Given the description of an element on the screen output the (x, y) to click on. 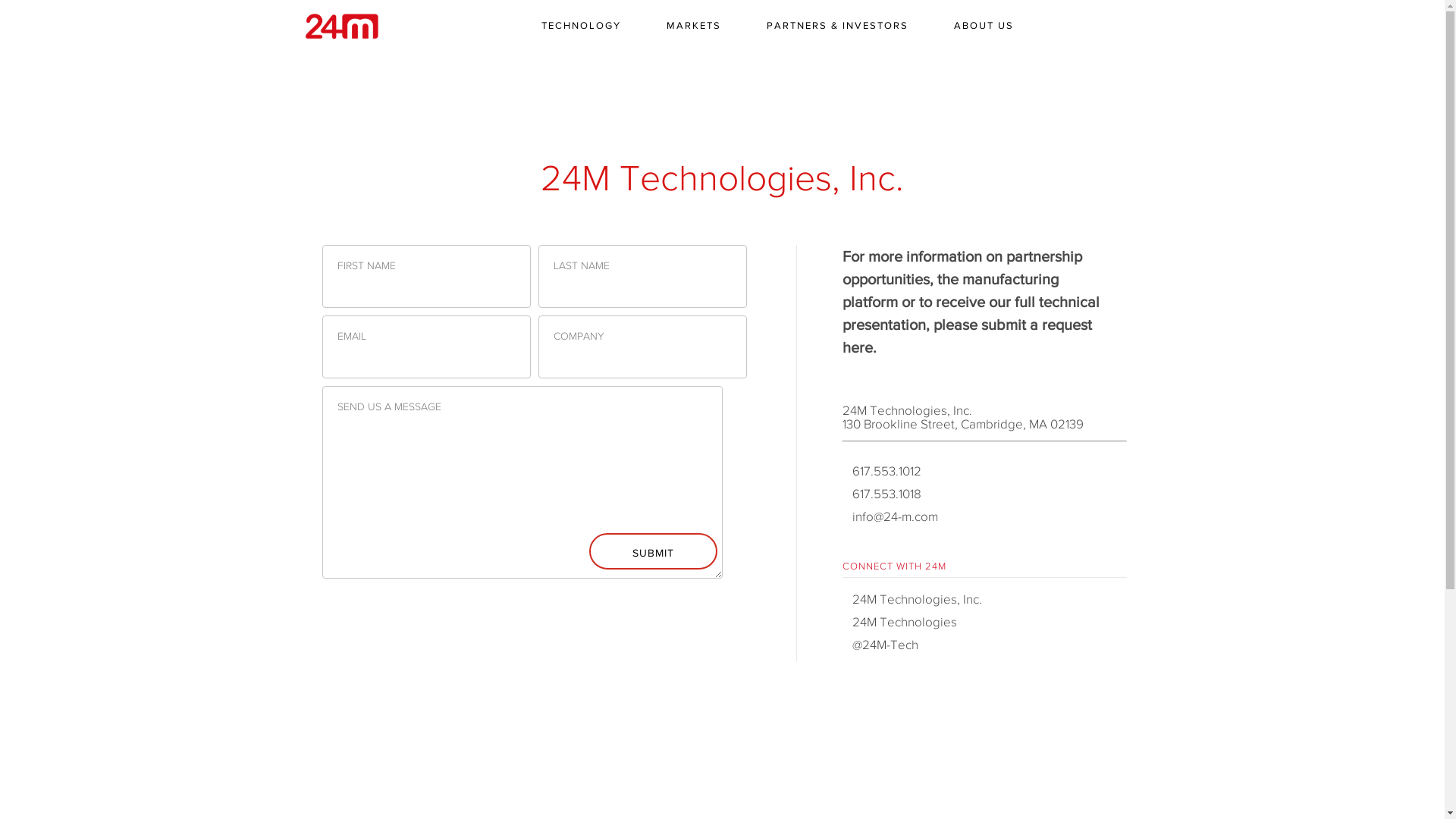
MARKETS Element type: text (693, 25)
Submit Element type: text (652, 551)
TECHNOLOGY Element type: text (580, 25)
PARTNERS & INVESTORS Element type: text (836, 25)
24M Technologies, Inc. Element type: text (911, 598)
@24M-Tech Element type: text (879, 644)
24M Technologies Element type: text (898, 621)
ABOUT US Element type: text (983, 25)
